Given the description of an element on the screen output the (x, y) to click on. 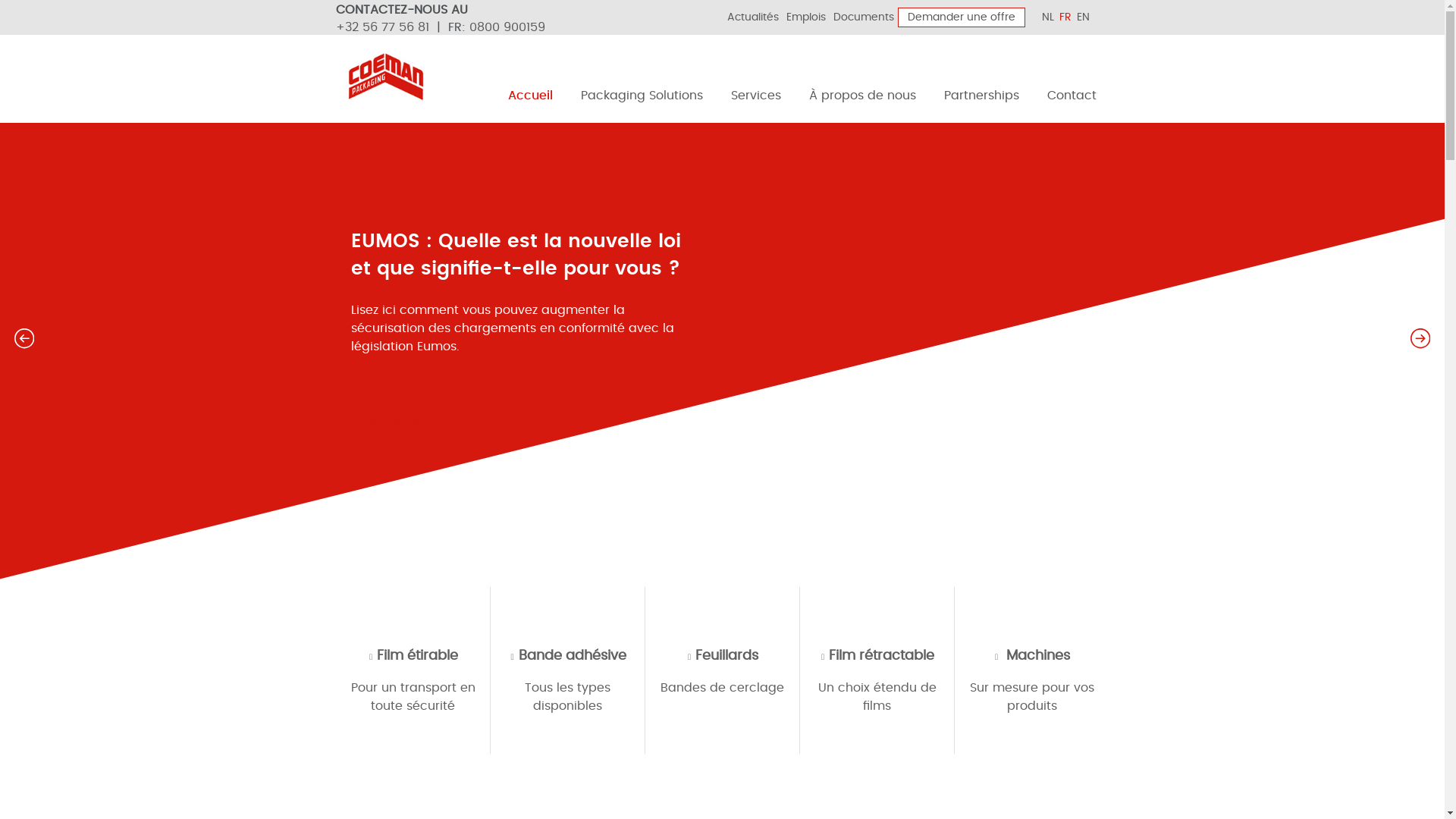
Youtube Element type: text (687, 18)
Packaging Solutions Element type: text (641, 91)
Machines Element type: text (1031, 655)
0800 900159 Element type: text (506, 27)
EN Element type: text (1085, 17)
Demander une offre Element type: text (961, 17)
Partnerships Element type: text (981, 91)
Contact Element type: text (1071, 91)
Accueil Element type: text (529, 91)
Emplois Element type: text (805, 17)
+32 56 77 56 81 Element type: text (381, 27)
Services Element type: text (755, 91)
NL Element type: text (1050, 17)
Aller au contenu principal Element type: text (0, 1)
FR Element type: text (1067, 17)
Plus d'info Element type: text (401, 424)
Documents Element type: text (863, 17)
Linkedin Element type: text (658, 18)
Feuillards Element type: text (722, 655)
